Given the description of an element on the screen output the (x, y) to click on. 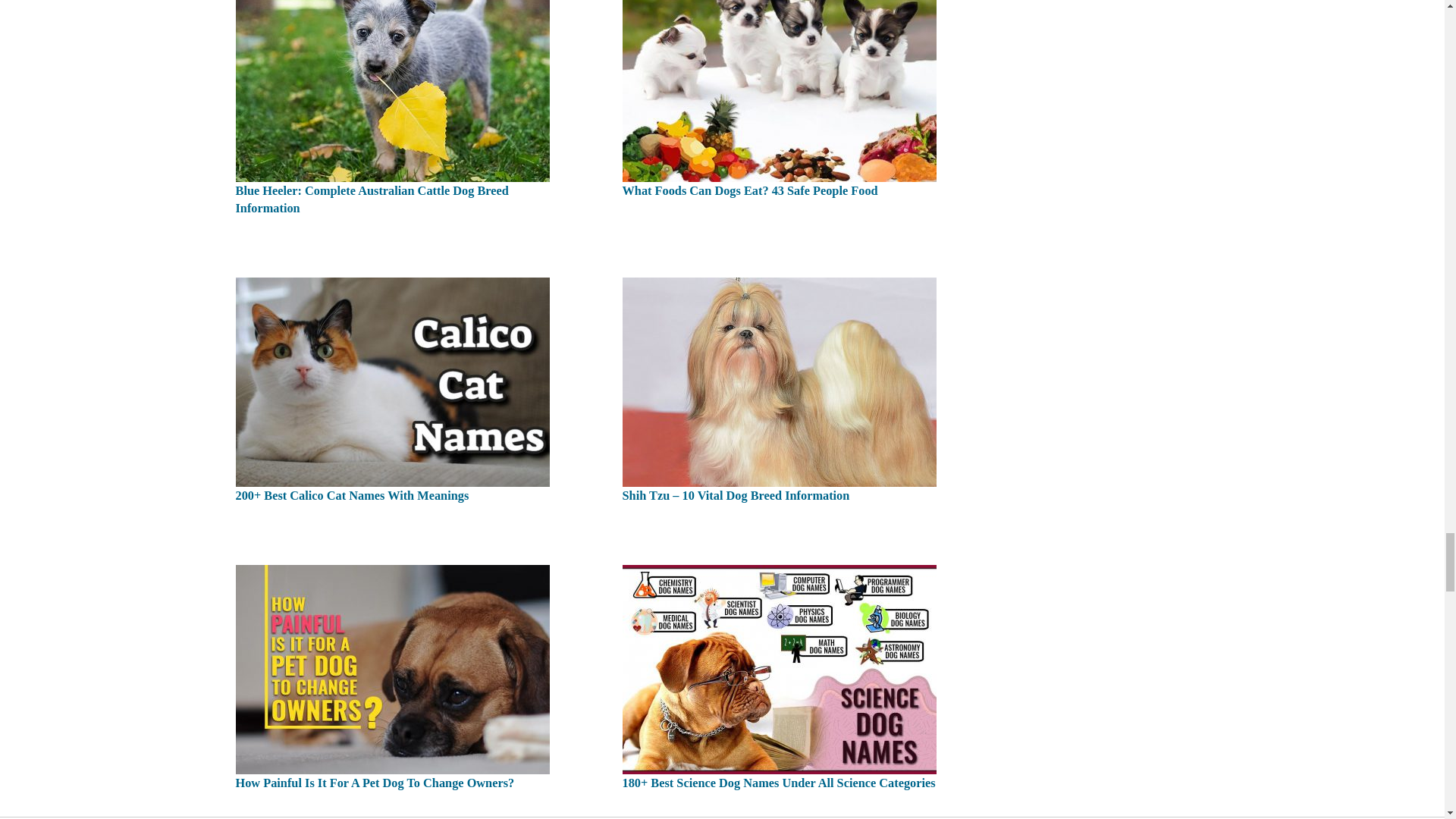
How Painful Is It For A Pet Dog To Change Owners? (391, 667)
What Foods Can Dogs Eat? 43 Safe People Food (778, 75)
